Given the description of an element on the screen output the (x, y) to click on. 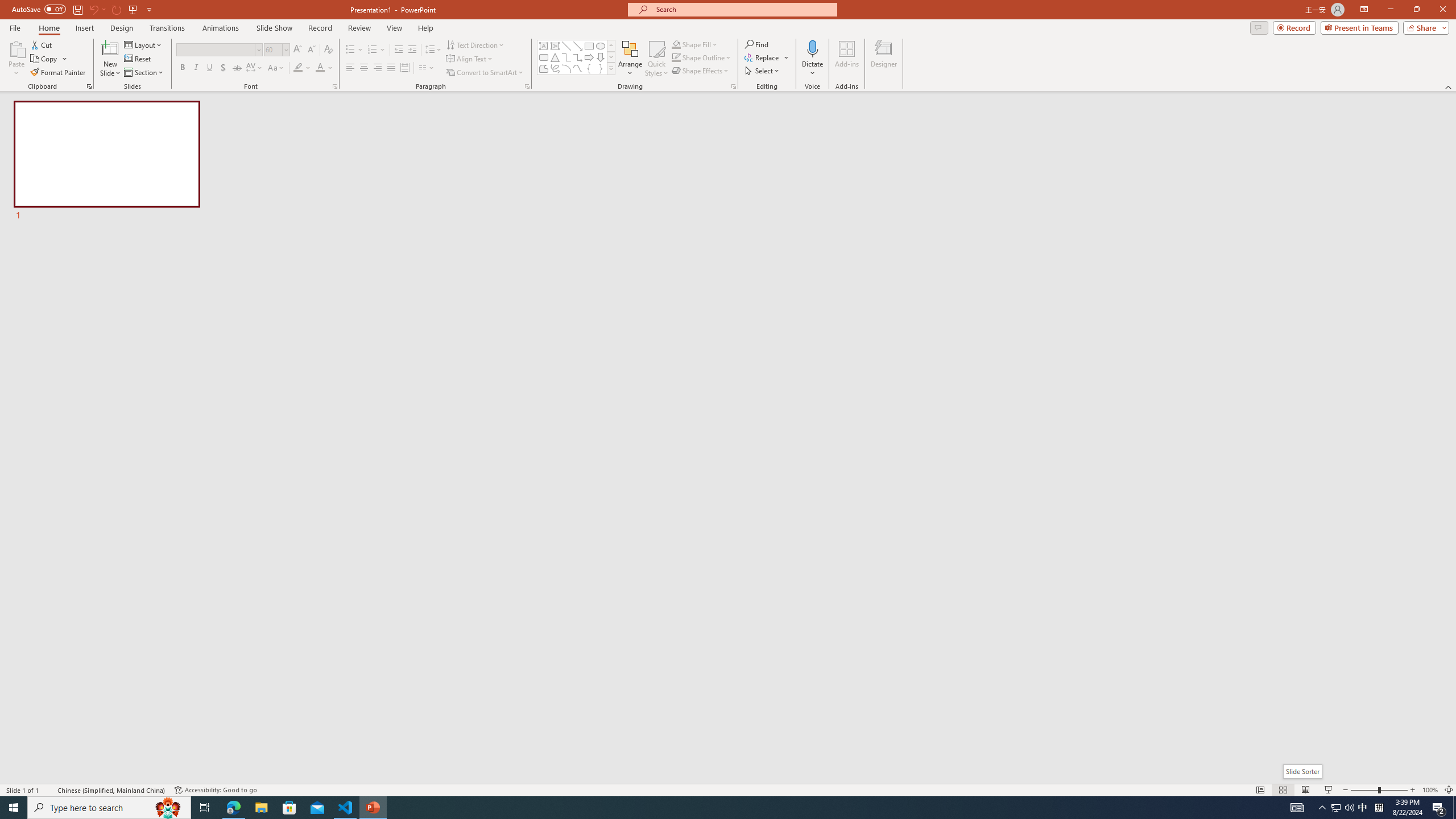
Slide Sorter (1282, 790)
Shape Effects (700, 69)
Class: MsoCommandBar (728, 789)
Class: NetUIImage (610, 68)
Line (566, 45)
Replace... (762, 56)
Spell Check  (49, 790)
Shape Fill (694, 44)
Align Left (349, 67)
Strikethrough (237, 67)
Shape Outline Blue, Accent 1 (675, 56)
File Tab (15, 27)
Copy (45, 58)
Arc (566, 68)
